Given the description of an element on the screen output the (x, y) to click on. 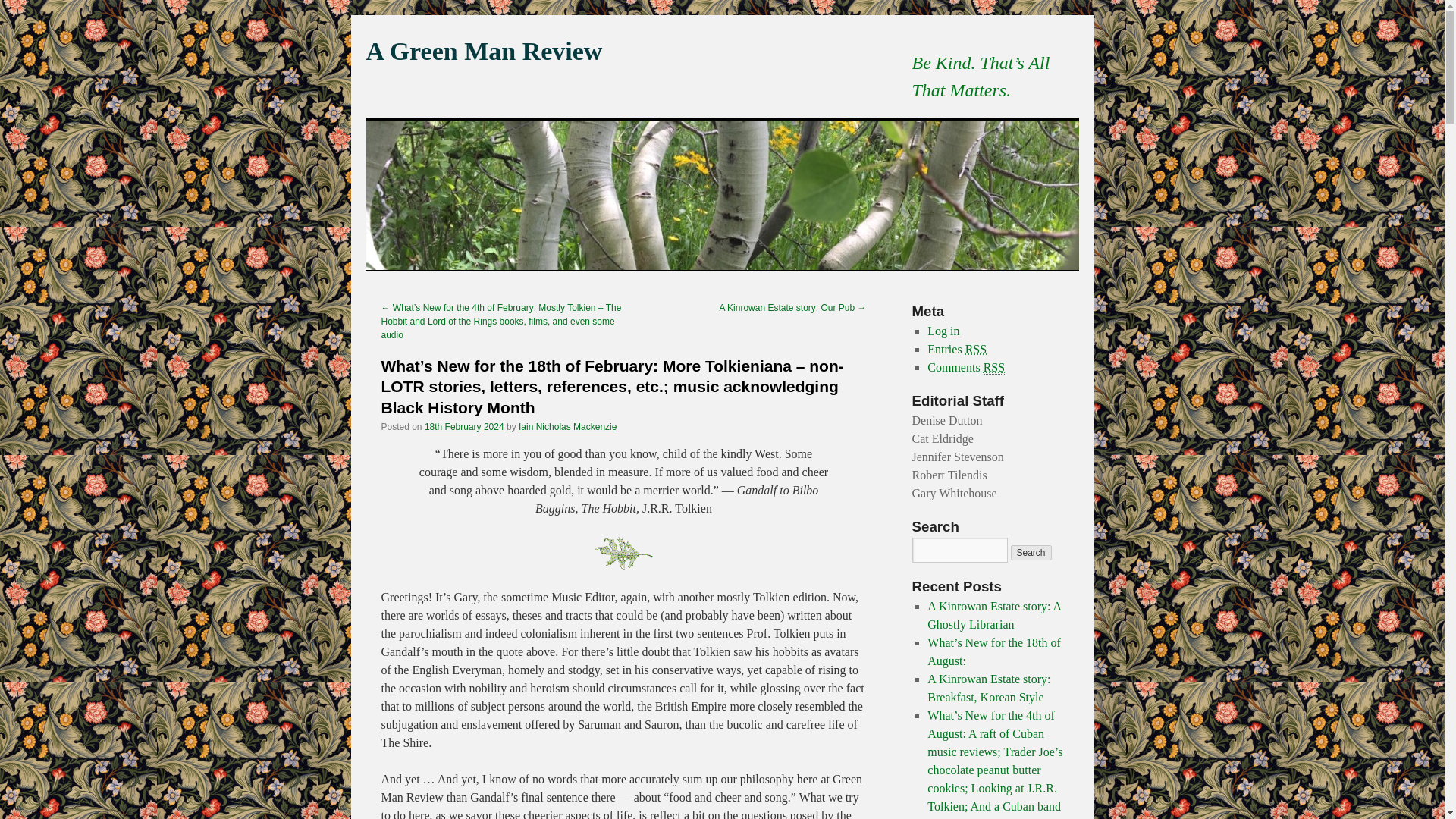
Really Simple Syndication (976, 349)
The latest comments to all posts in RSS (965, 367)
Iain Nicholas Mackenzie (566, 426)
A Green Man Review (483, 50)
Search (1030, 552)
Really Simple Syndication (994, 367)
04:00 (464, 426)
Syndicate this site using RSS 2.0 (957, 349)
18th February 2024 (464, 426)
View all posts by Iain Nicholas Mackenzie (566, 426)
